Given the description of an element on the screen output the (x, y) to click on. 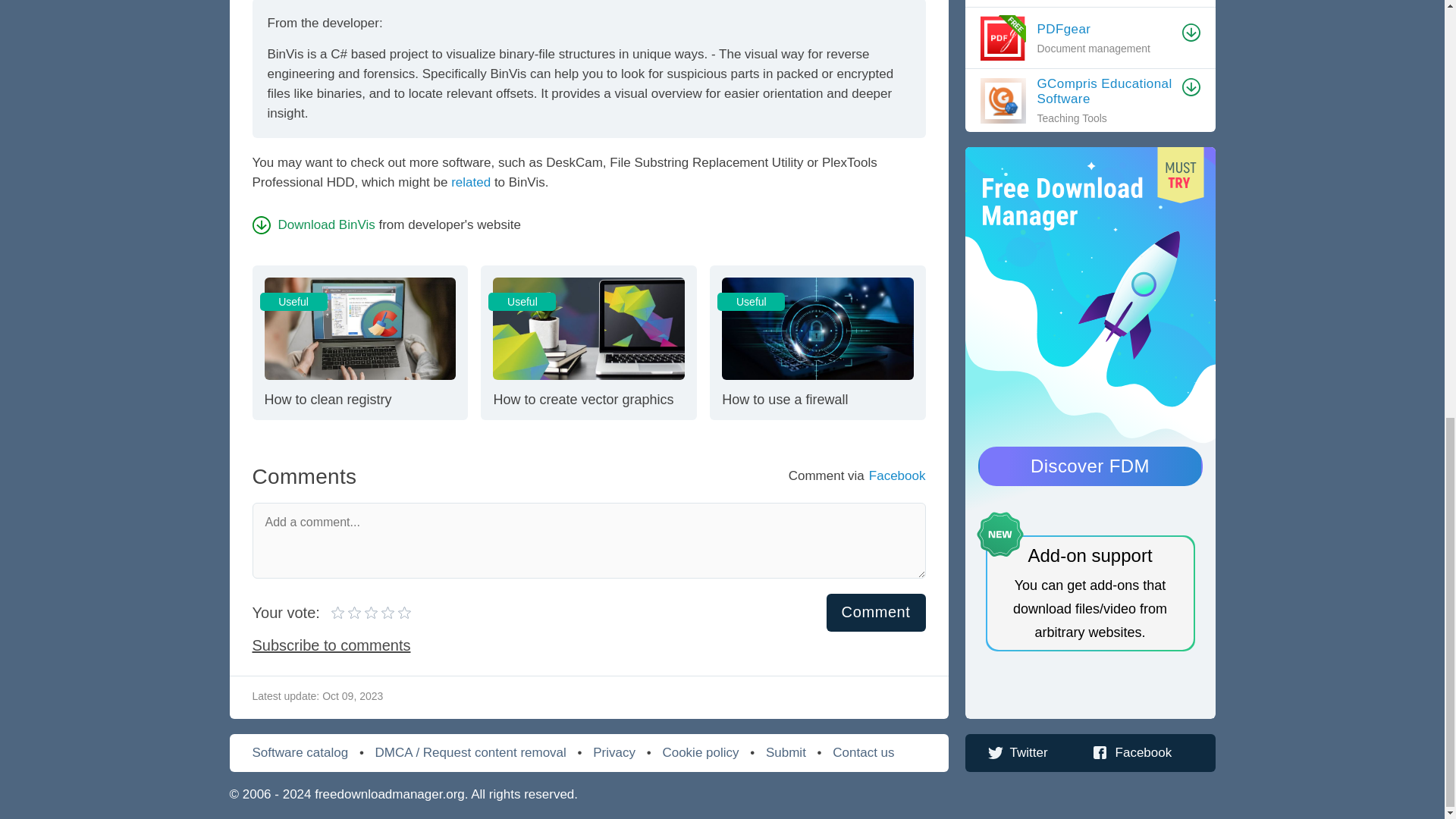
4 (817, 341)
Download BinVis (363, 612)
related (312, 224)
2 (470, 182)
Comment (346, 612)
Comment (359, 341)
1 (876, 612)
5 (876, 612)
